Given the description of an element on the screen output the (x, y) to click on. 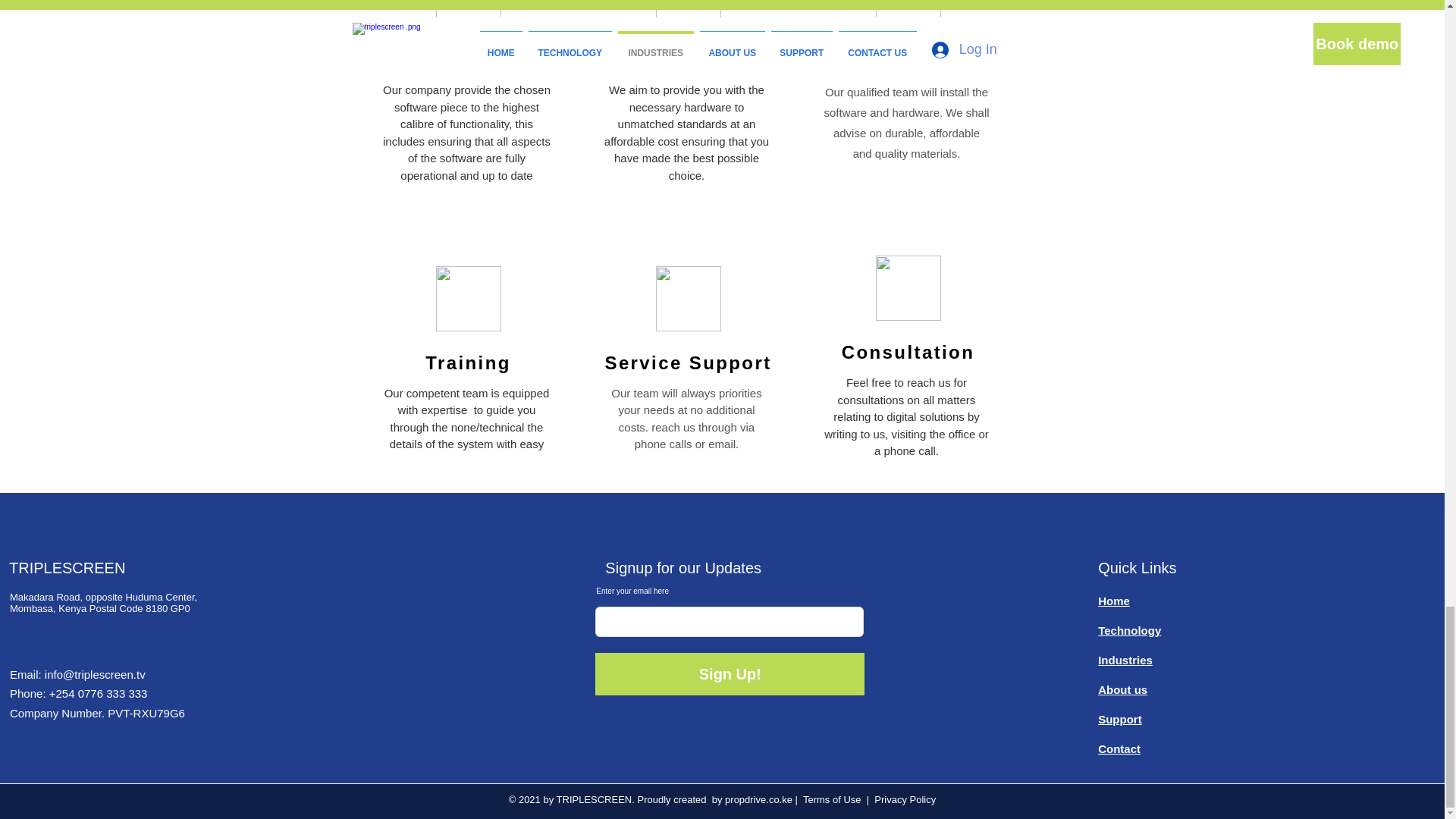
Privacy Policy (905, 798)
About us (1122, 688)
Terms of Use (832, 798)
Technology (1128, 629)
Home (1113, 600)
Industries (1125, 659)
Support (1119, 718)
Sign Up! (729, 672)
Contact (1118, 748)
